Given the description of an element on the screen output the (x, y) to click on. 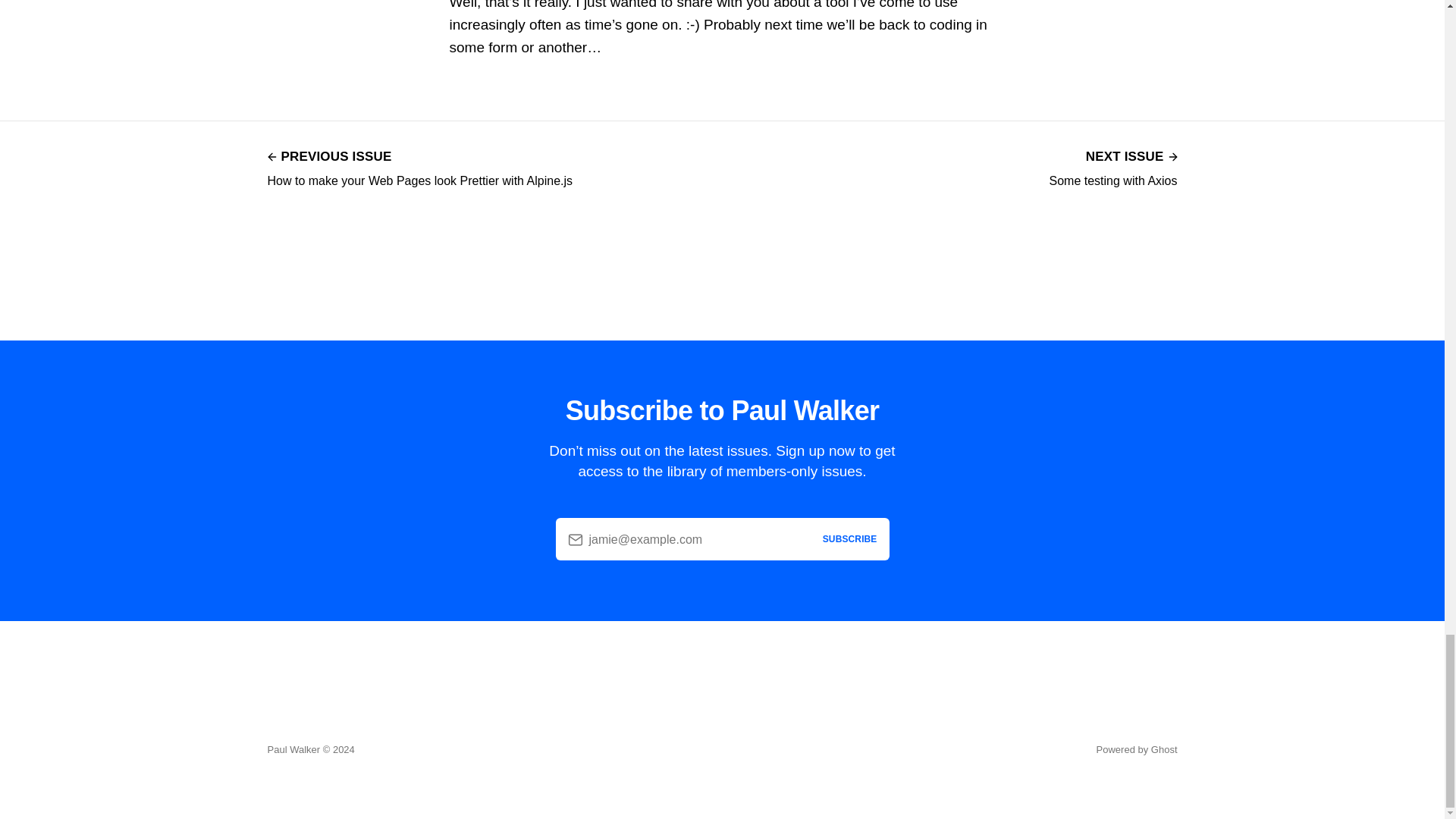
Powered by Ghost (1113, 167)
